Given the description of an element on the screen output the (x, y) to click on. 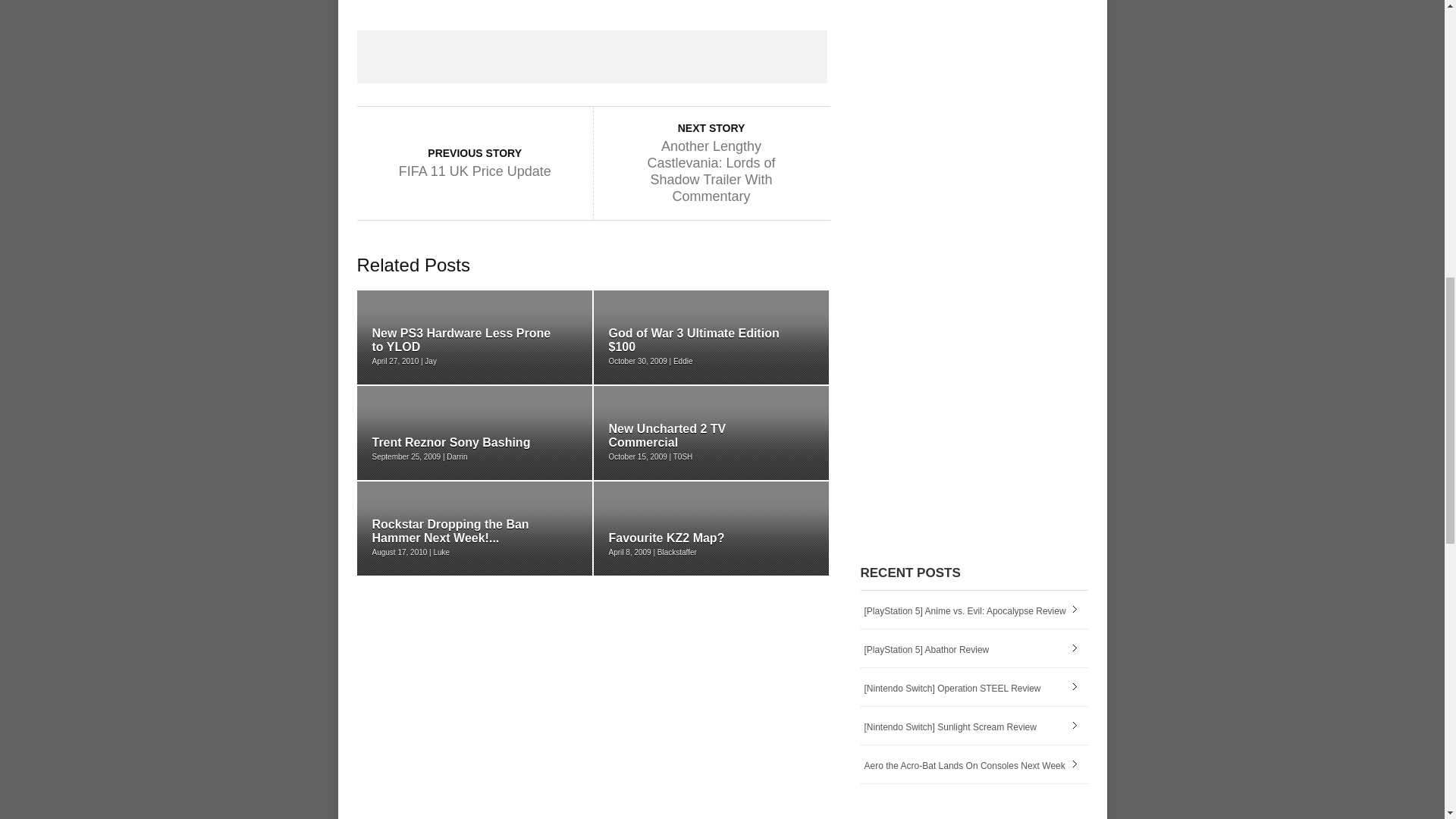
Share on Facebook (402, 56)
